Given the description of an element on the screen output the (x, y) to click on. 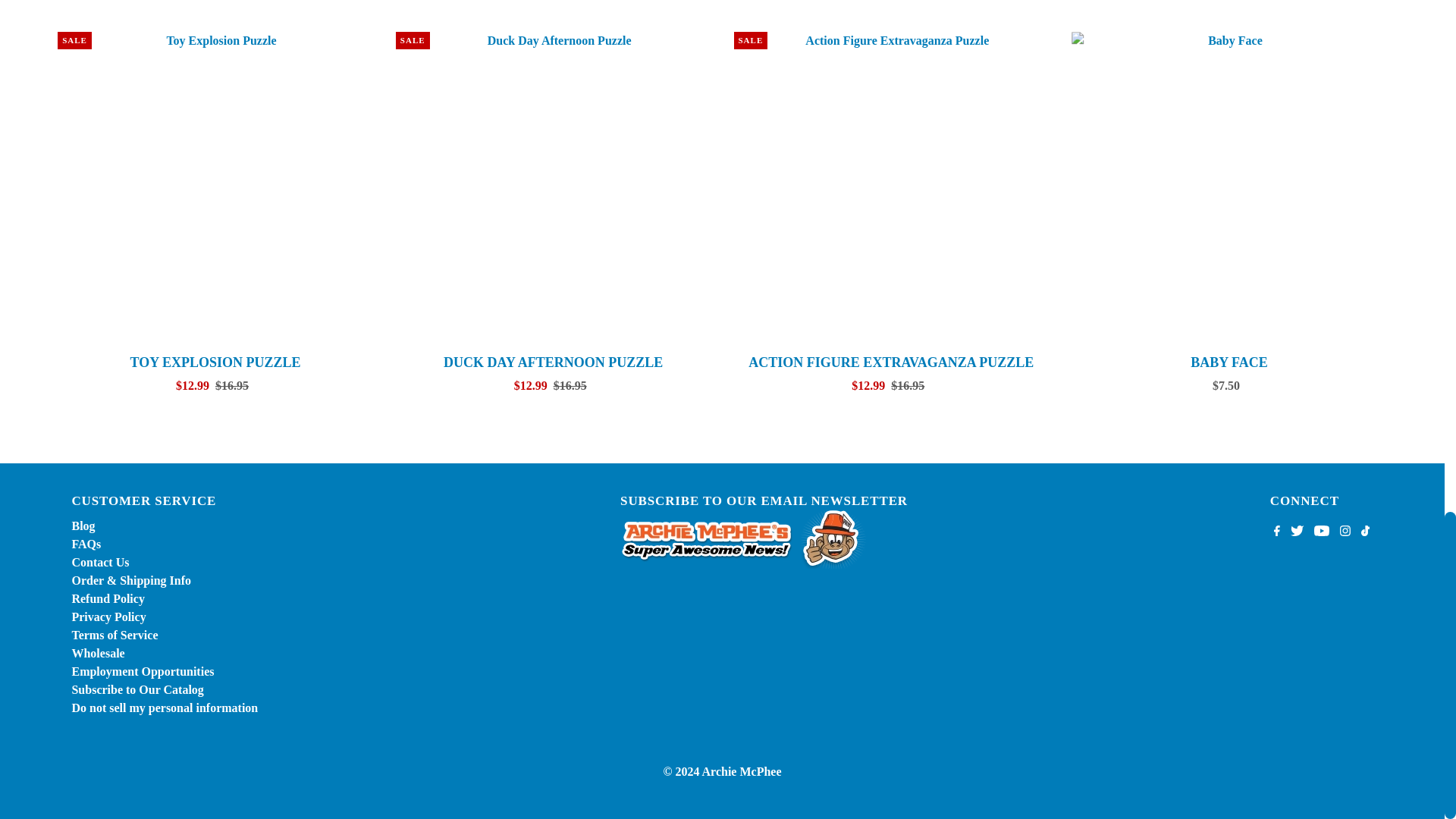
Baby Face (1229, 189)
Duck Day Afternoon Puzzle (553, 189)
Action Figure Extravaganza Puzzle (891, 189)
Toy Explosion Puzzle (215, 189)
